Given the description of an element on the screen output the (x, y) to click on. 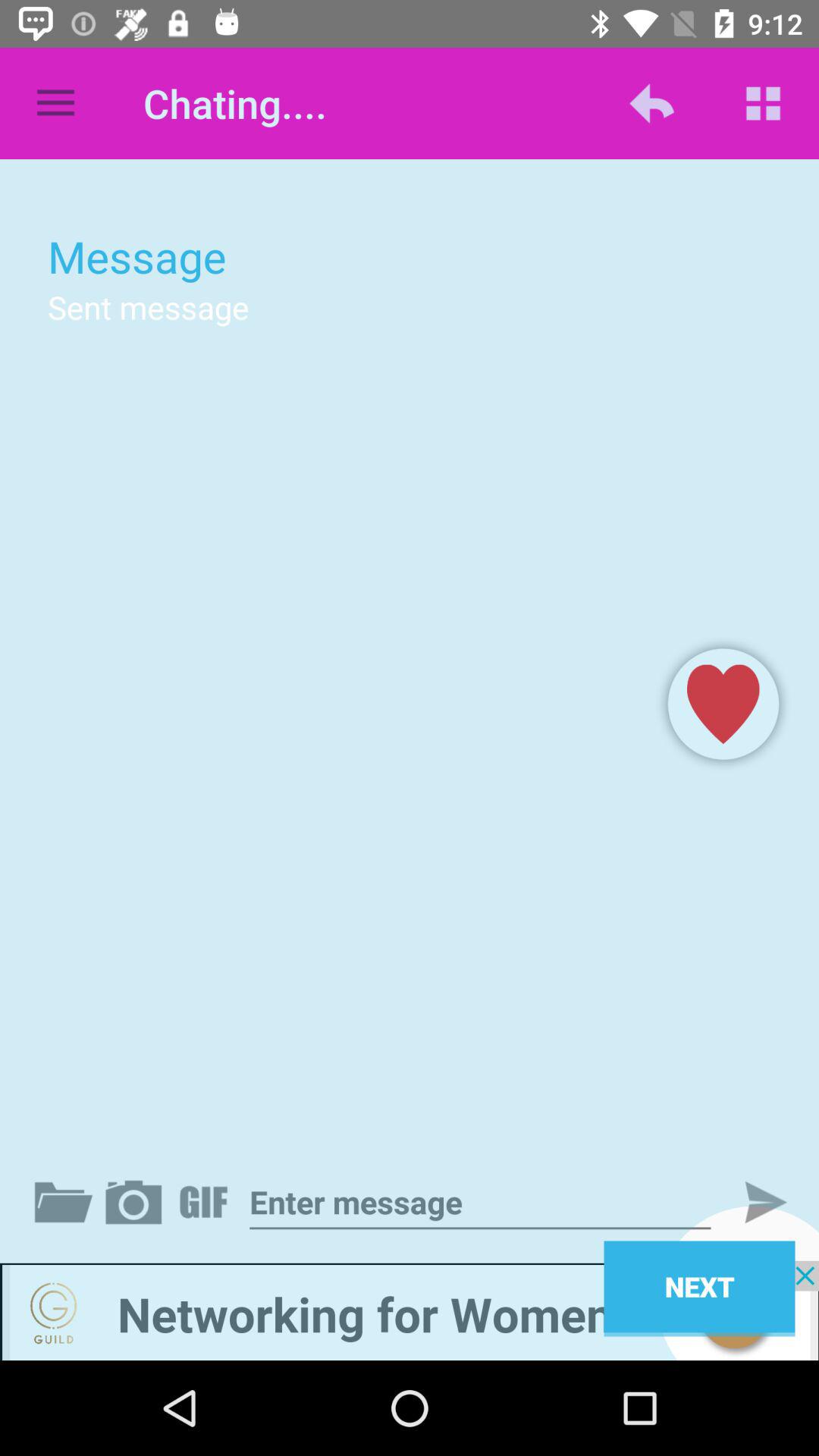
advertisement (409, 1310)
